Given the description of an element on the screen output the (x, y) to click on. 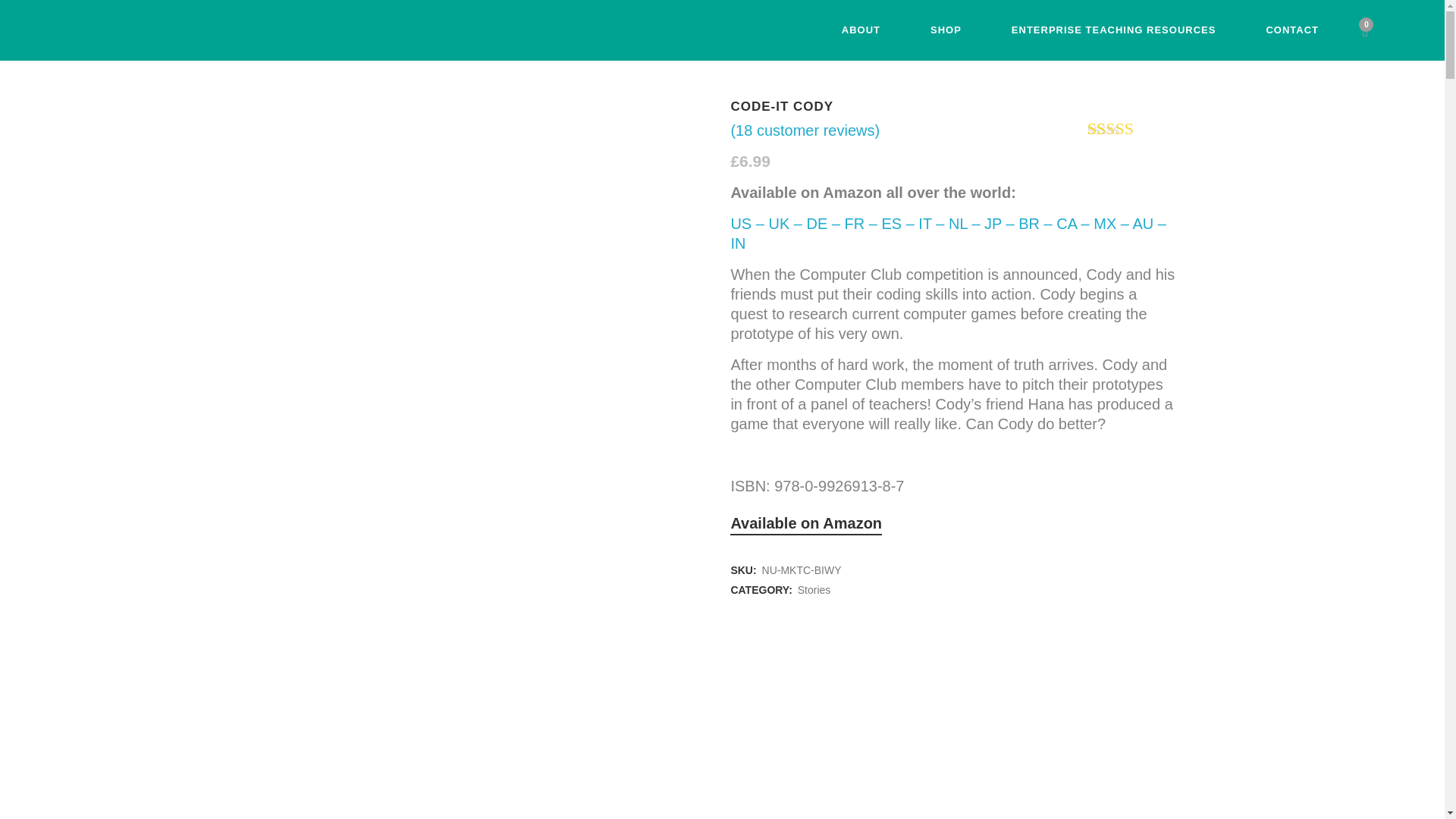
CONTACT (1291, 30)
SHOP (946, 30)
ABOUT (860, 30)
Stories (814, 589)
IN (737, 243)
ENTERPRISE TEACHING RESOURCES (1114, 30)
